Given the description of an element on the screen output the (x, y) to click on. 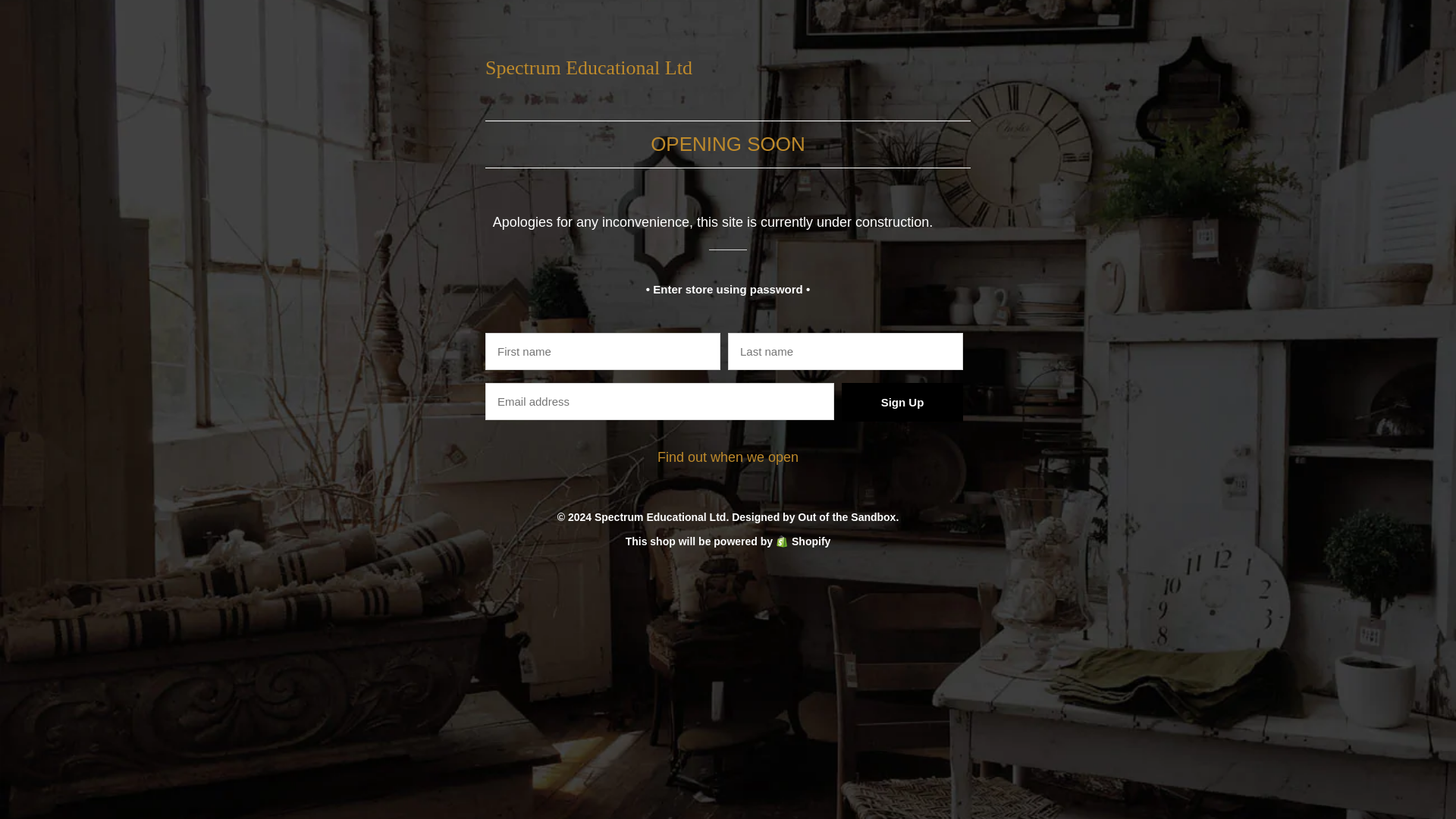
Enter (885, 393)
Sign Up (901, 402)
Mobilia Shopify Theme by Out of the Sandbox (813, 517)
Sign Up (901, 402)
Designed by Out of the Sandbox (813, 517)
Shopify (802, 541)
